Given the description of an element on the screen output the (x, y) to click on. 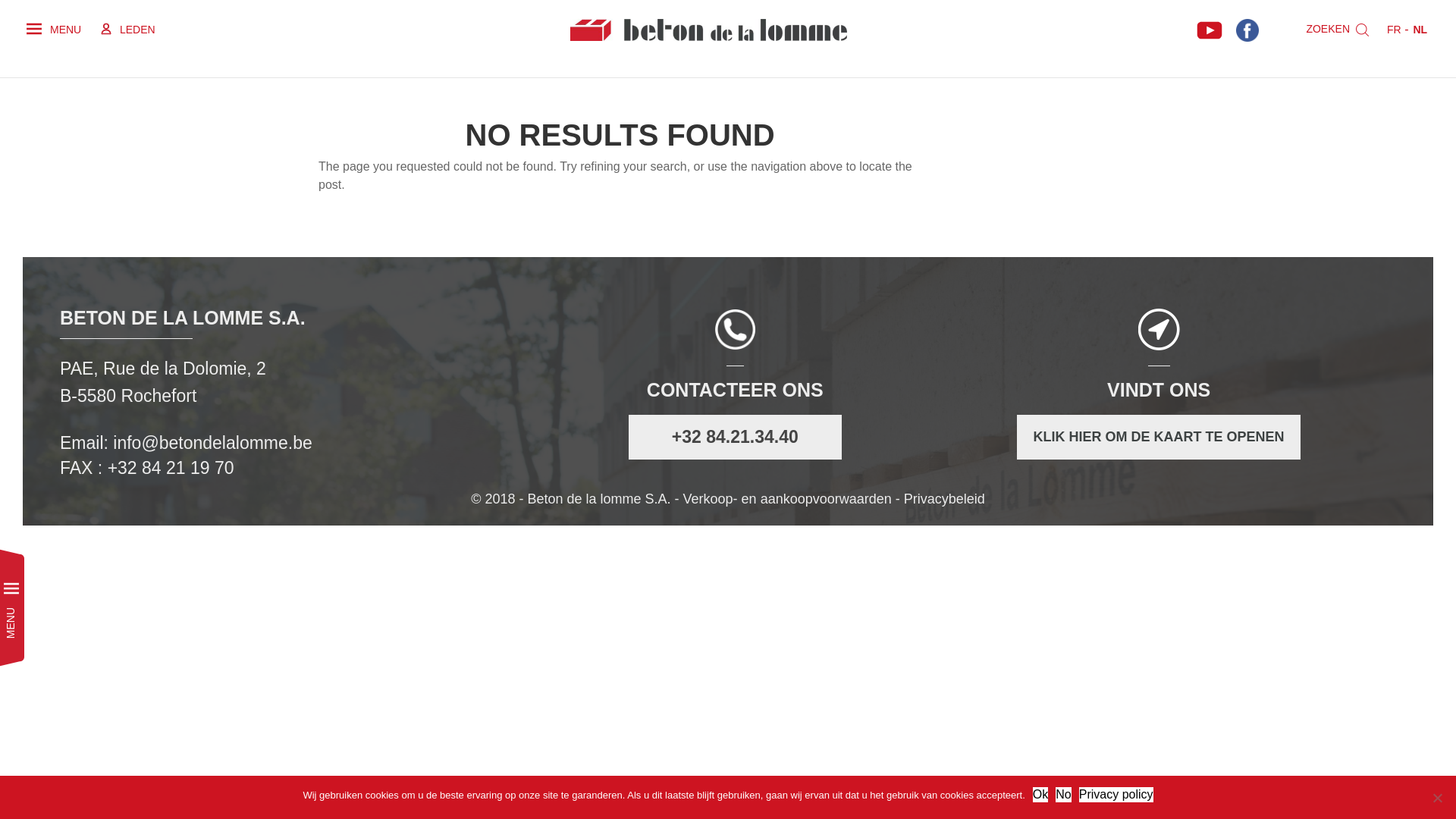
FR Element type: text (1392, 29)
NL Element type: text (1418, 29)
Ok Element type: text (1040, 794)
Verkoop- en aankoopvoorwaarden Element type: text (787, 498)
LEDEN Element type: text (127, 29)
KLIK HIER OM DE KAART TE OPENEN Element type: text (1158, 436)
No Element type: hover (1436, 797)
info@betondelalomme.be Element type: text (210, 442)
Privacybeleid Element type: text (944, 498)
+32 84.21.34.40 Element type: text (734, 438)
Privacy policy Element type: text (1116, 794)
No Element type: text (1062, 794)
